Given the description of an element on the screen output the (x, y) to click on. 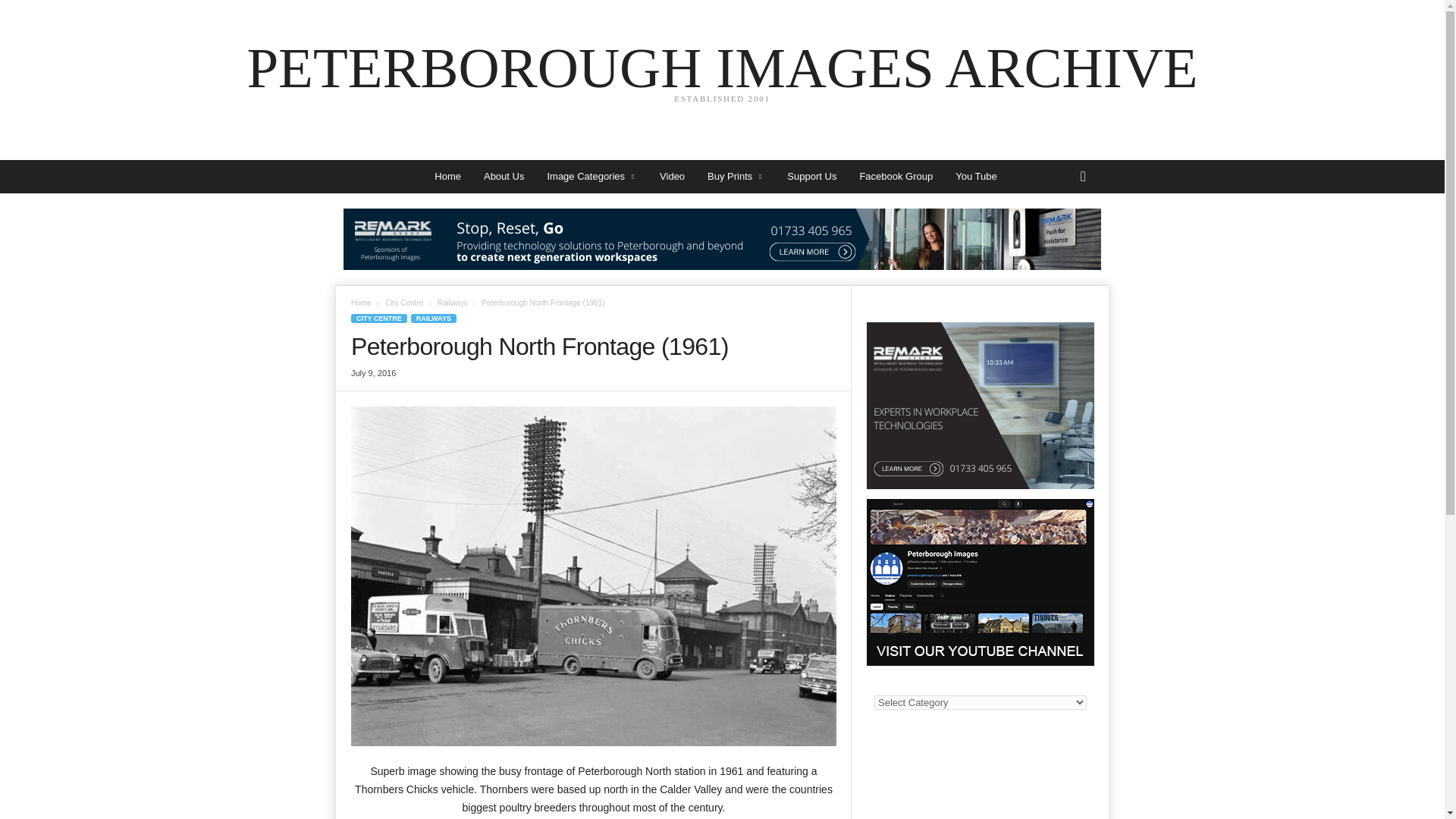
Image Categories (591, 176)
View all posts in City Centre (404, 302)
About Us (503, 176)
Home (722, 76)
View all posts in Railways (447, 176)
